Given the description of an element on the screen output the (x, y) to click on. 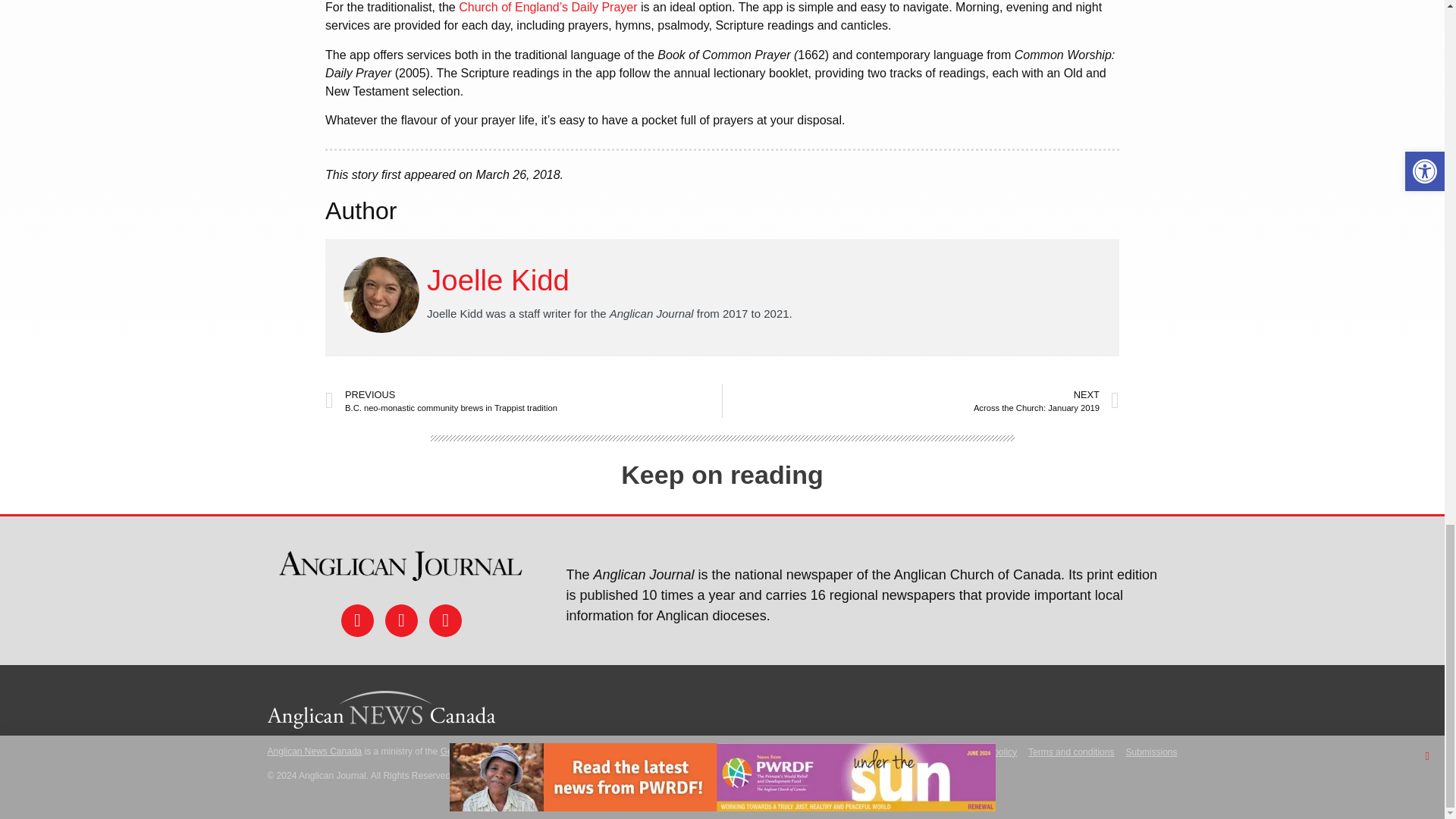
Joelle Kidd (497, 279)
